Given the description of an element on the screen output the (x, y) to click on. 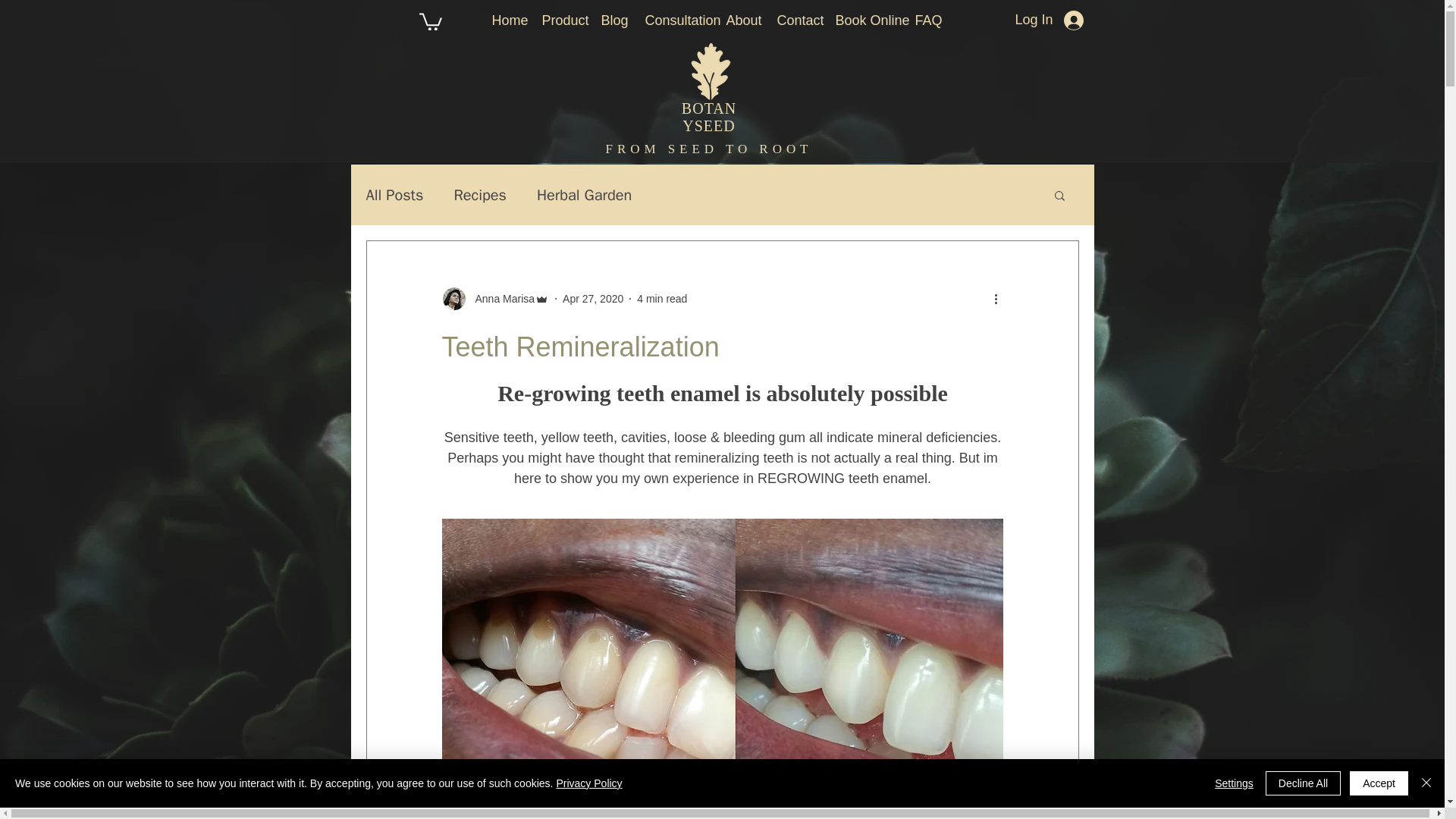
Anna Marisa (499, 299)
All Posts (394, 195)
Product (560, 20)
Home (505, 20)
Anna Marisa (494, 298)
Contact (794, 20)
Log In (1048, 20)
Apr 27, 2020 (592, 298)
Consultation (673, 20)
Recipes (479, 195)
BOTANYSEED (708, 116)
Blog (611, 20)
Book Online (863, 20)
4 min read (662, 298)
Herbal Garden (584, 195)
